Given the description of an element on the screen output the (x, y) to click on. 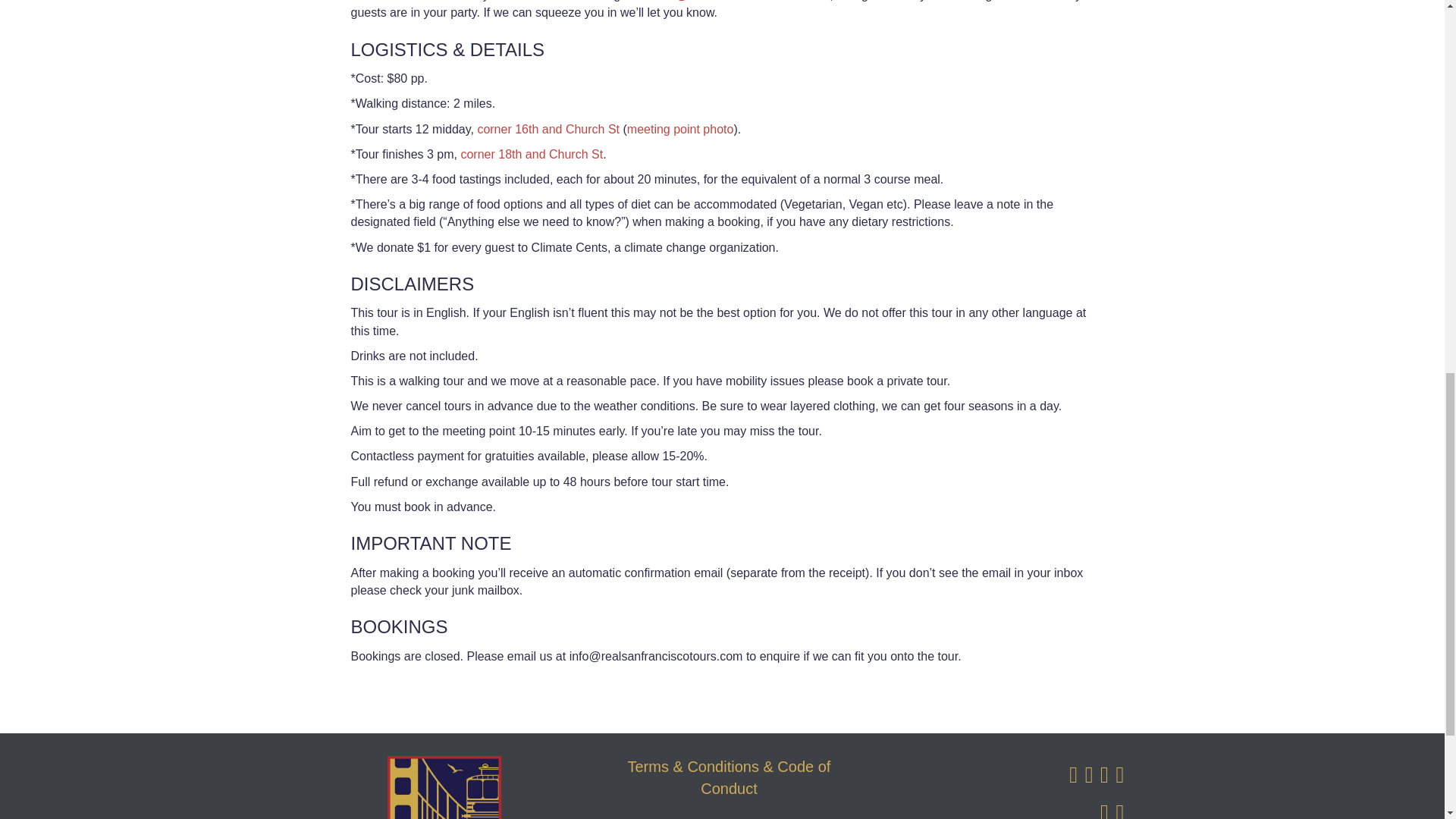
corner 16th and Church St (548, 128)
corner 18th and Church St (531, 154)
meeting point photo (680, 128)
